Given the description of an element on the screen output the (x, y) to click on. 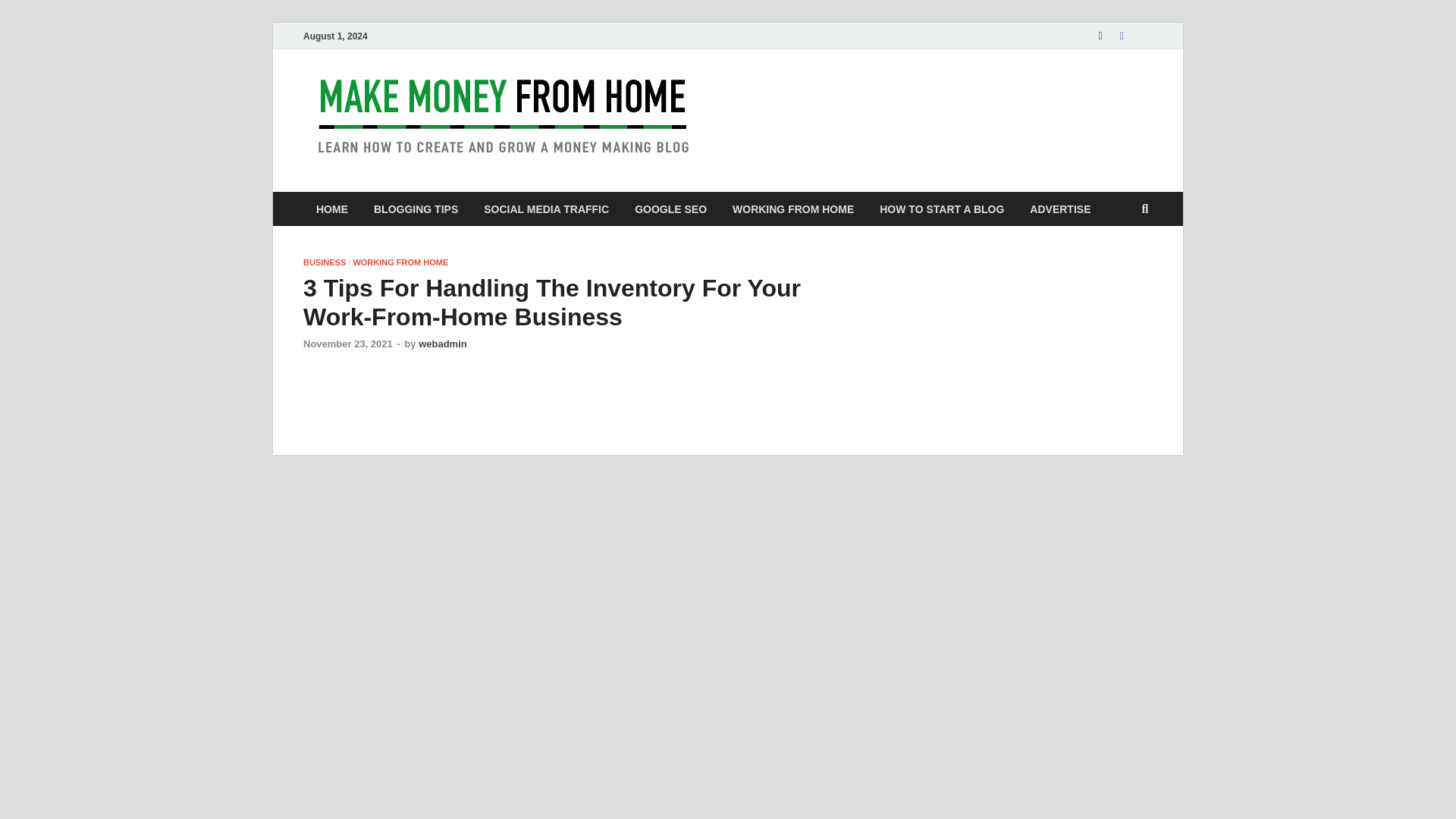
November 23, 2021 (347, 343)
GOOGLE SEO (670, 208)
HOME (331, 208)
WORKING FROM HOME (792, 208)
BUSINESS (324, 261)
HOW TO START A BLOG (941, 208)
ADVERTISE (1059, 208)
webadmin (443, 343)
WORKING FROM HOME (400, 261)
BLOGGING TIPS (415, 208)
Money Home Blog (835, 100)
SOCIAL MEDIA TRAFFIC (545, 208)
